Given the description of an element on the screen output the (x, y) to click on. 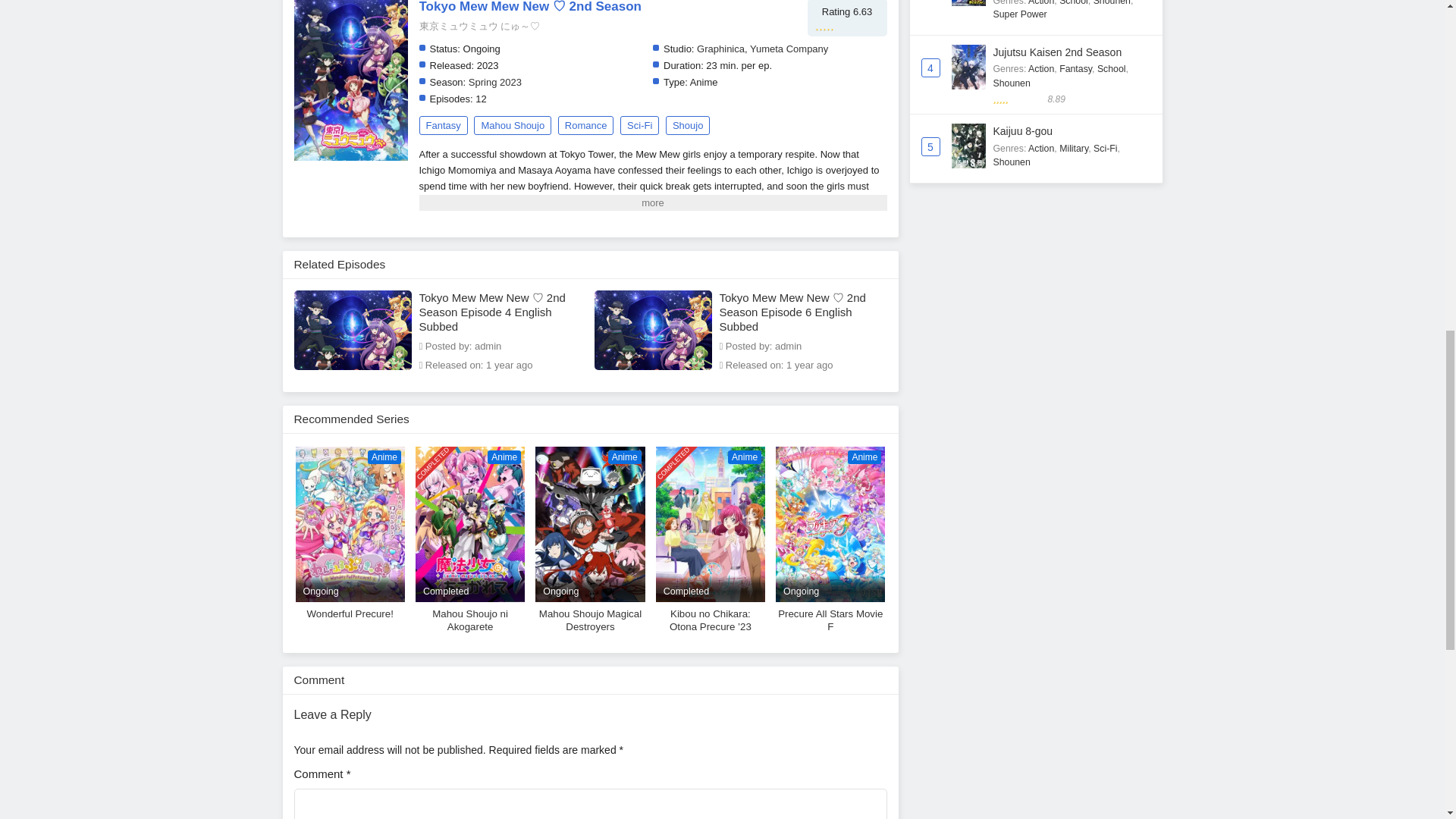
Mahou Shoujo (512, 125)
Romance (585, 125)
Shoujo (687, 125)
Wonderful Precure! (349, 523)
Fantasy (443, 125)
Mahou Shoujo ni Akogarete (469, 523)
Spring 2023 (494, 81)
Mahou Shoujo Magical Destroyers (590, 523)
Graphinica (349, 539)
Sci-Fi (720, 48)
Yumeta Company (639, 125)
